Given the description of an element on the screen output the (x, y) to click on. 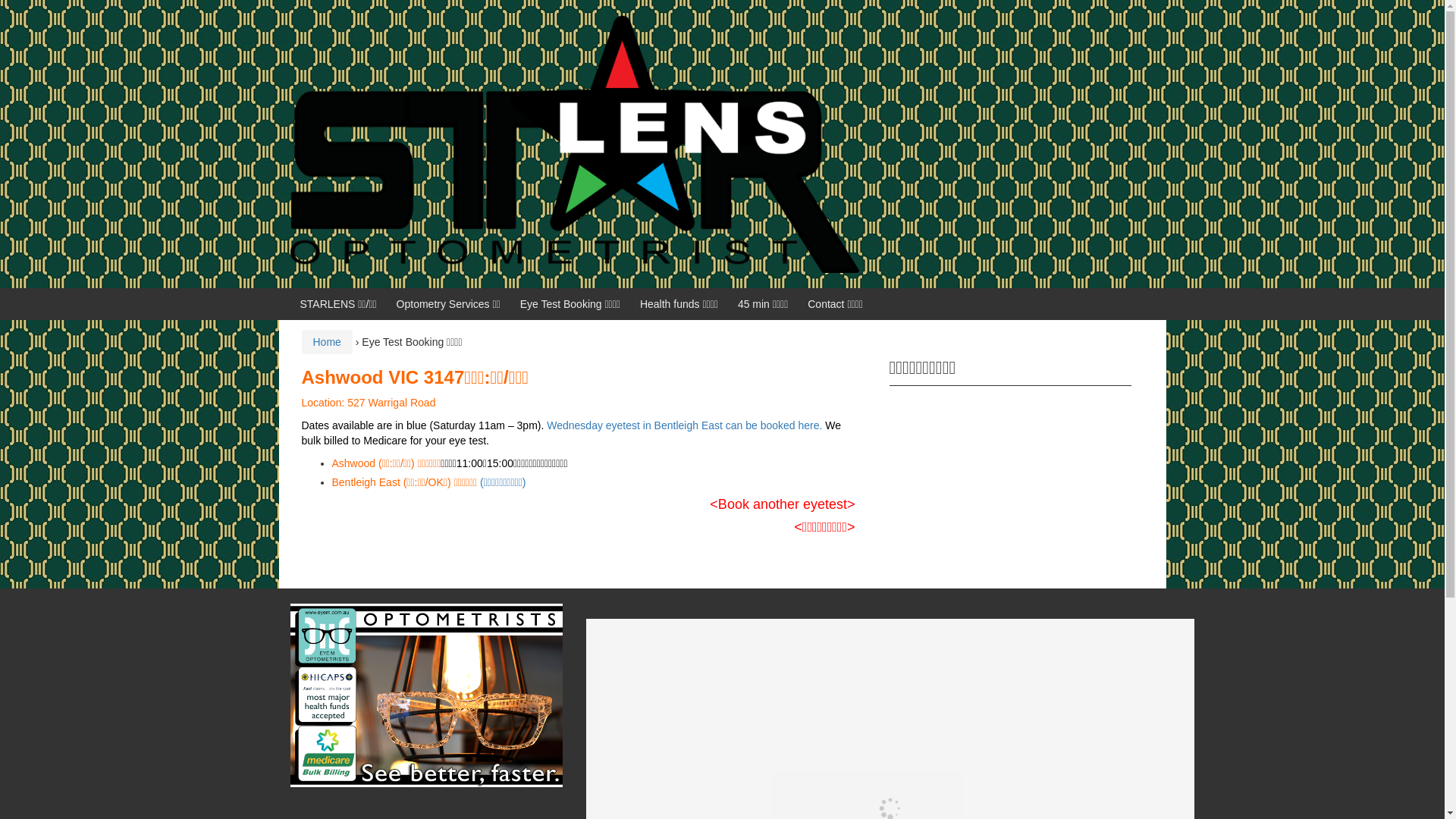
Home Element type: text (326, 341)
Skip to main menu Element type: text (43, 7)
Skip to content Element type: text (35, 7)
<Book another eyetest> Element type: text (781, 503)
Wednesday eyetest in Bentleigh East can be booked here. Element type: text (685, 425)
